Given the description of an element on the screen output the (x, y) to click on. 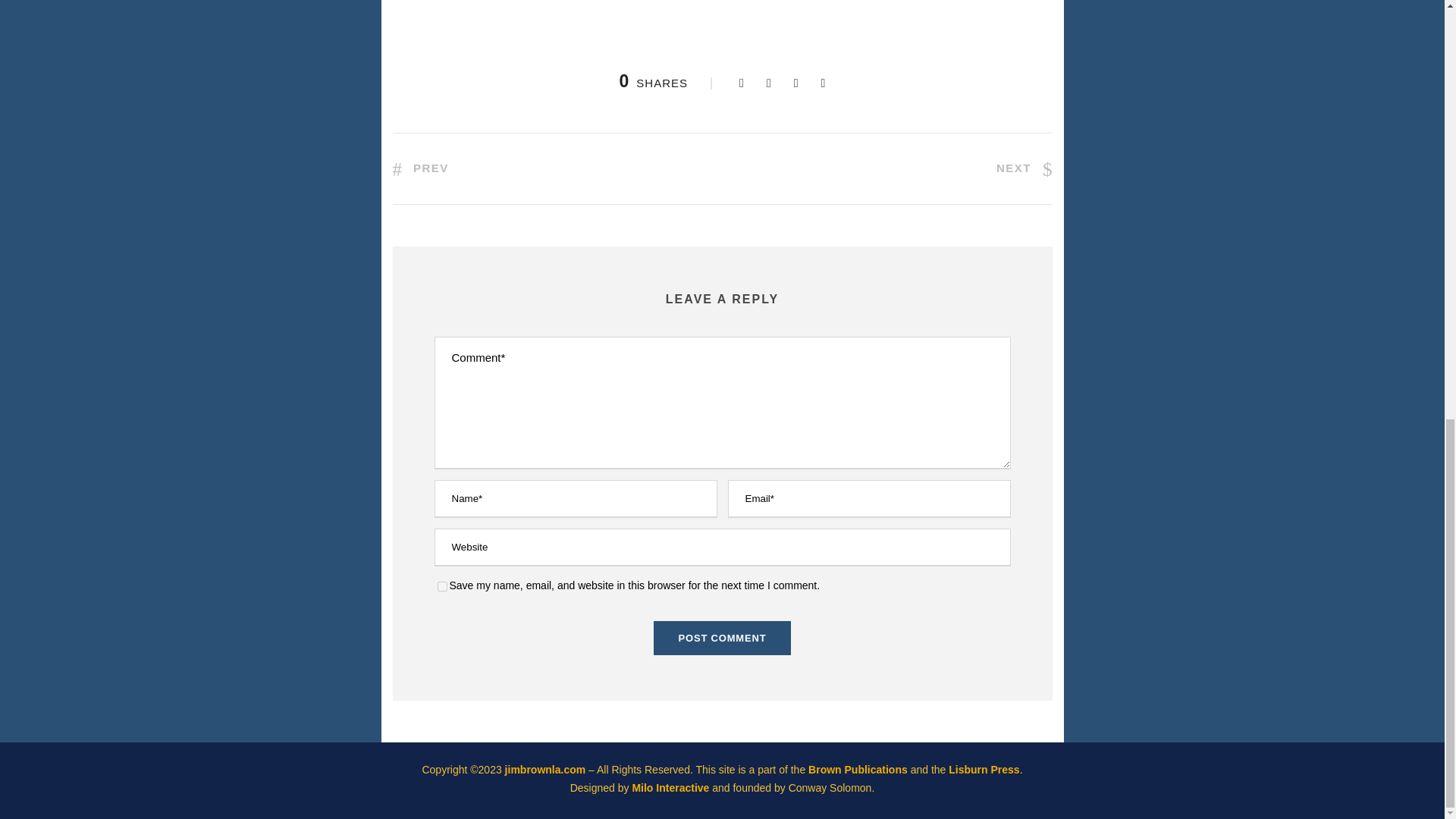
yes (441, 586)
NEXT (1023, 168)
Post Comment (722, 637)
Milo Interactive  (671, 787)
Post Comment (722, 637)
PREV (420, 168)
Lisburn Press (984, 769)
jimbrownla.com (545, 769)
Brown Publications (857, 769)
